Given the description of an element on the screen output the (x, y) to click on. 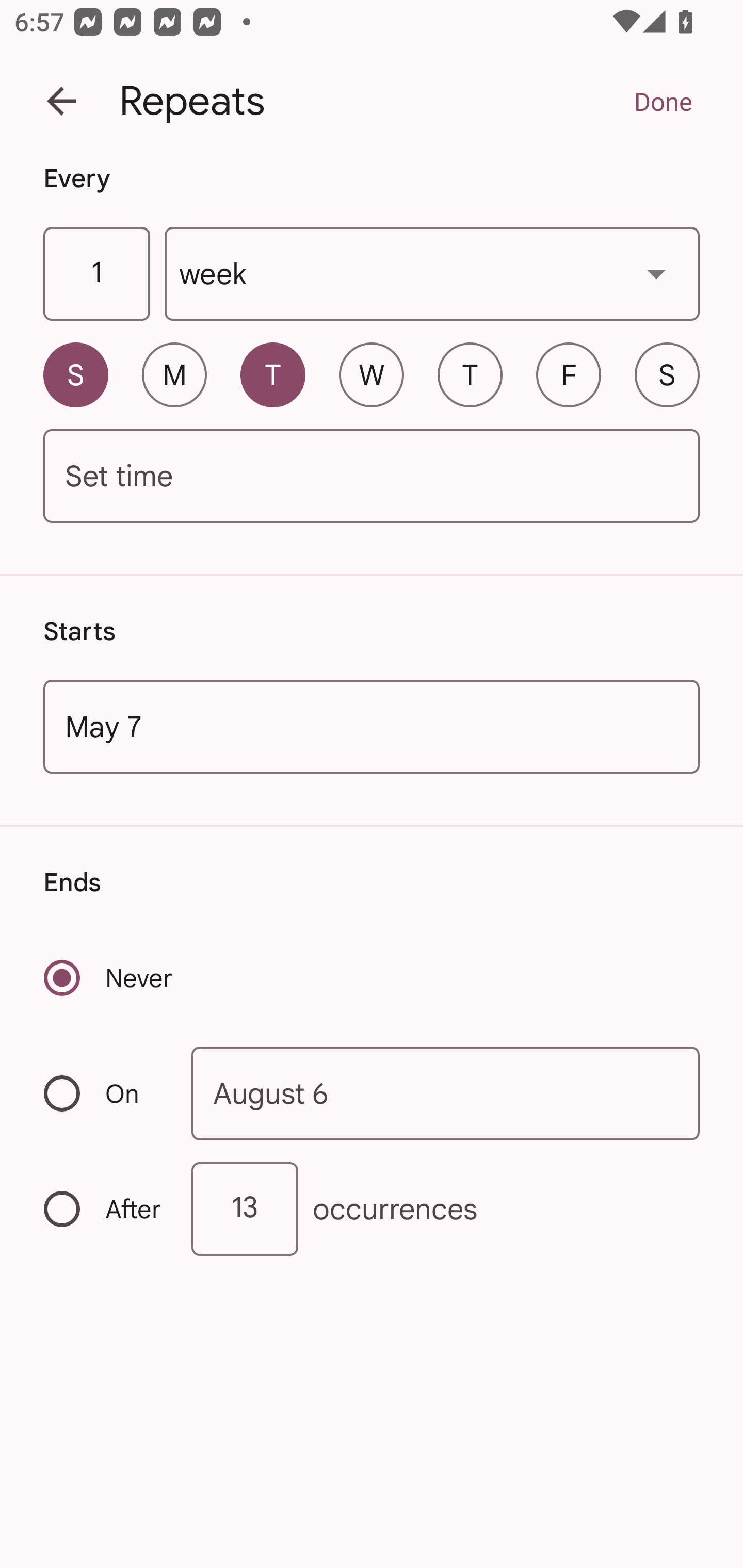
Back (61, 101)
Done (663, 101)
1 (96, 274)
week (431, 274)
Show dropdown menu (655, 273)
S Sunday, selected (75, 374)
M Monday (173, 374)
T Tuesday, selected (272, 374)
W Wednesday (371, 374)
T Thursday (469, 374)
F Friday (568, 374)
S Saturday (666, 374)
Set time (371, 476)
May 7 (371, 726)
Never Recurrence never ends (109, 978)
August 6 (445, 1092)
On Recurrence ends on a specific date (104, 1093)
13 (244, 1208)
